Given the description of an element on the screen output the (x, y) to click on. 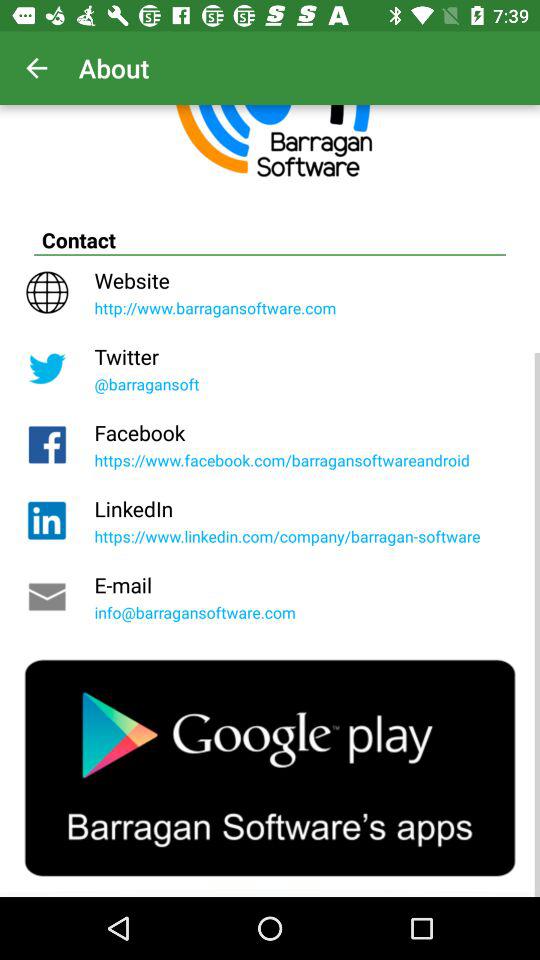
go to barragan software 's apps (269, 767)
